Given the description of an element on the screen output the (x, y) to click on. 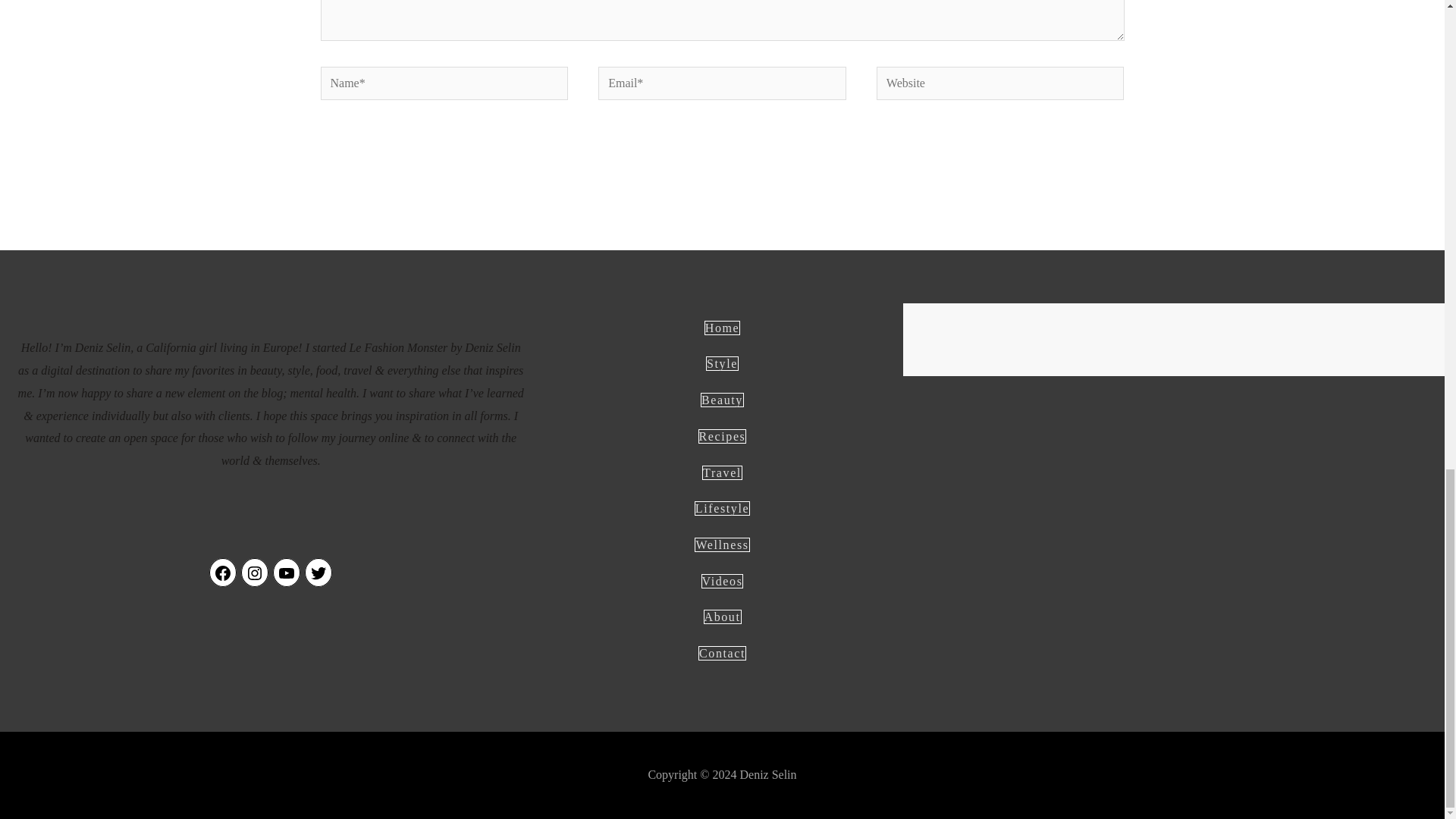
Home (722, 327)
Beauty (722, 400)
Contact (721, 653)
Wellness (721, 544)
About (722, 616)
Recipes (722, 436)
Style (722, 363)
Lifestyle (721, 508)
Videos (722, 581)
Travel (721, 472)
